Given the description of an element on the screen output the (x, y) to click on. 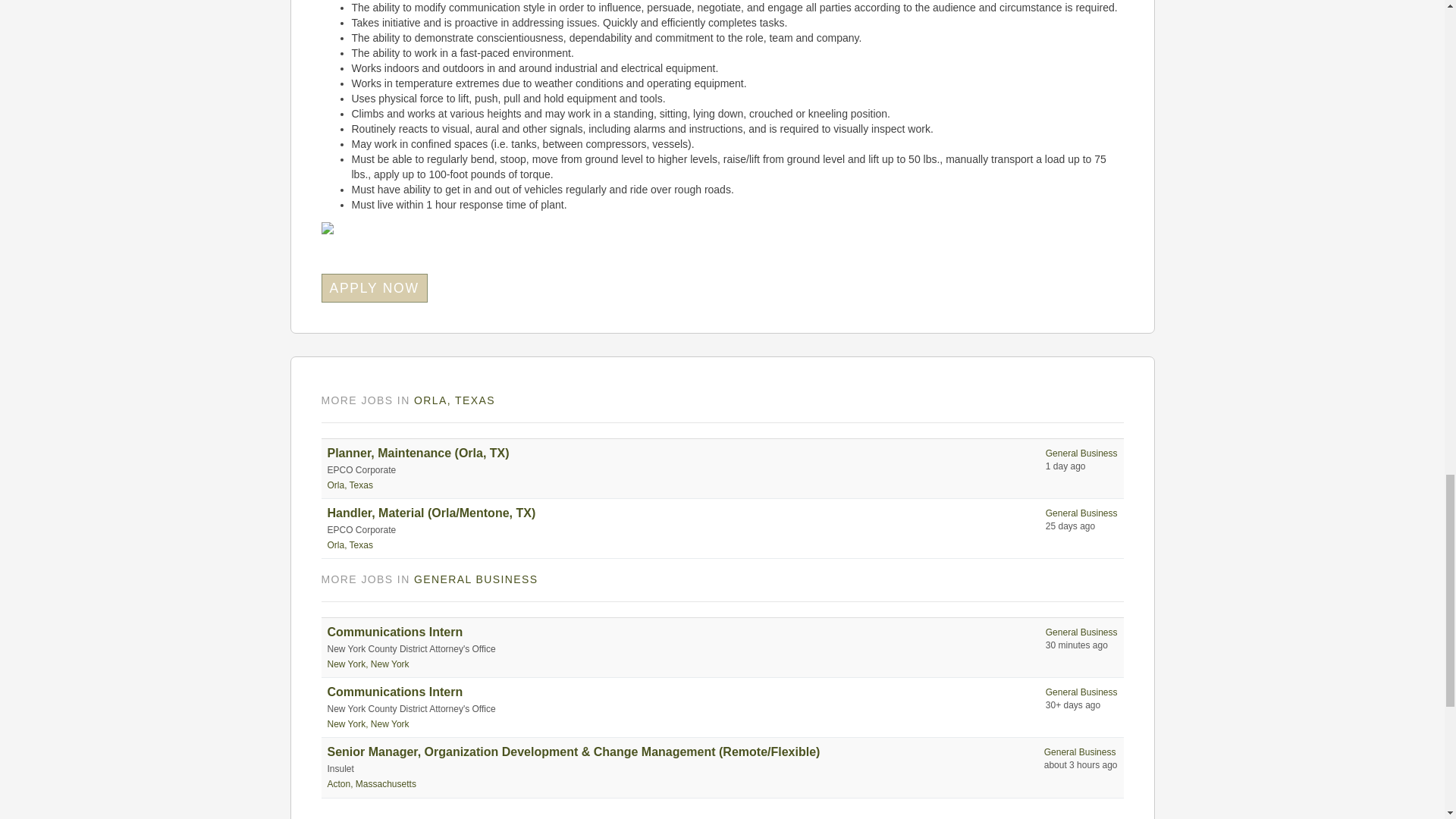
General Business (1081, 692)
General Business (1081, 632)
Acton, Massachusetts (371, 783)
General Business (1081, 452)
Orla, Texas (349, 484)
General Business (1081, 512)
ORLA, TEXAS (454, 399)
Orla, Texas (349, 544)
New York, New York (368, 724)
GENERAL BUSINESS (475, 579)
